Given the description of an element on the screen output the (x, y) to click on. 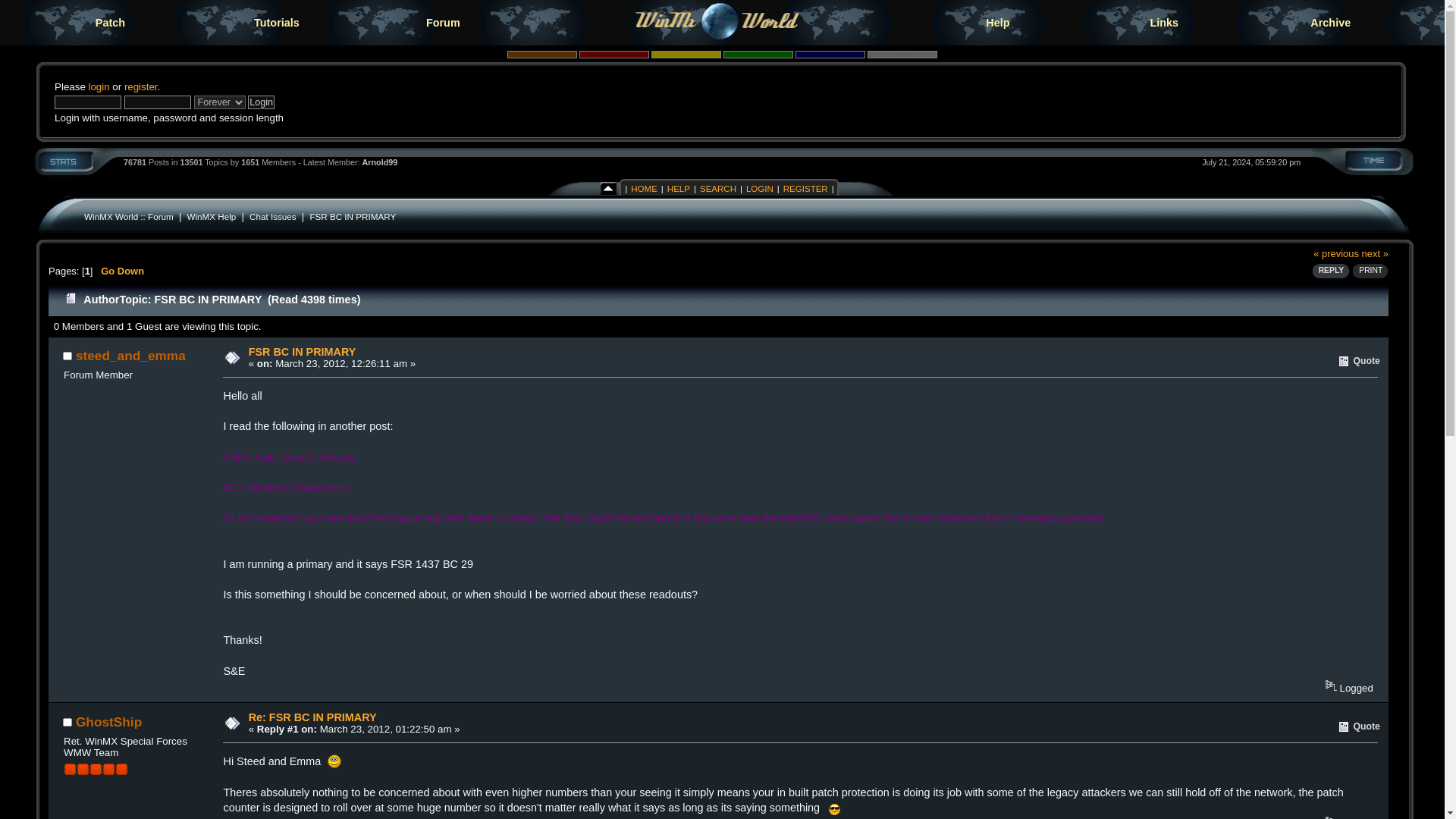
Quote (1359, 361)
blue (829, 54)
View the profile of GhostShip (108, 721)
register (140, 86)
blue (829, 54)
Shrink or expand the header. (607, 187)
Forum (442, 22)
Login (261, 101)
Cool (834, 808)
brown (541, 54)
Go Down (122, 270)
REGISTER (804, 188)
login (98, 86)
Links (1164, 22)
GhostShip (108, 721)
